Given the description of an element on the screen output the (x, y) to click on. 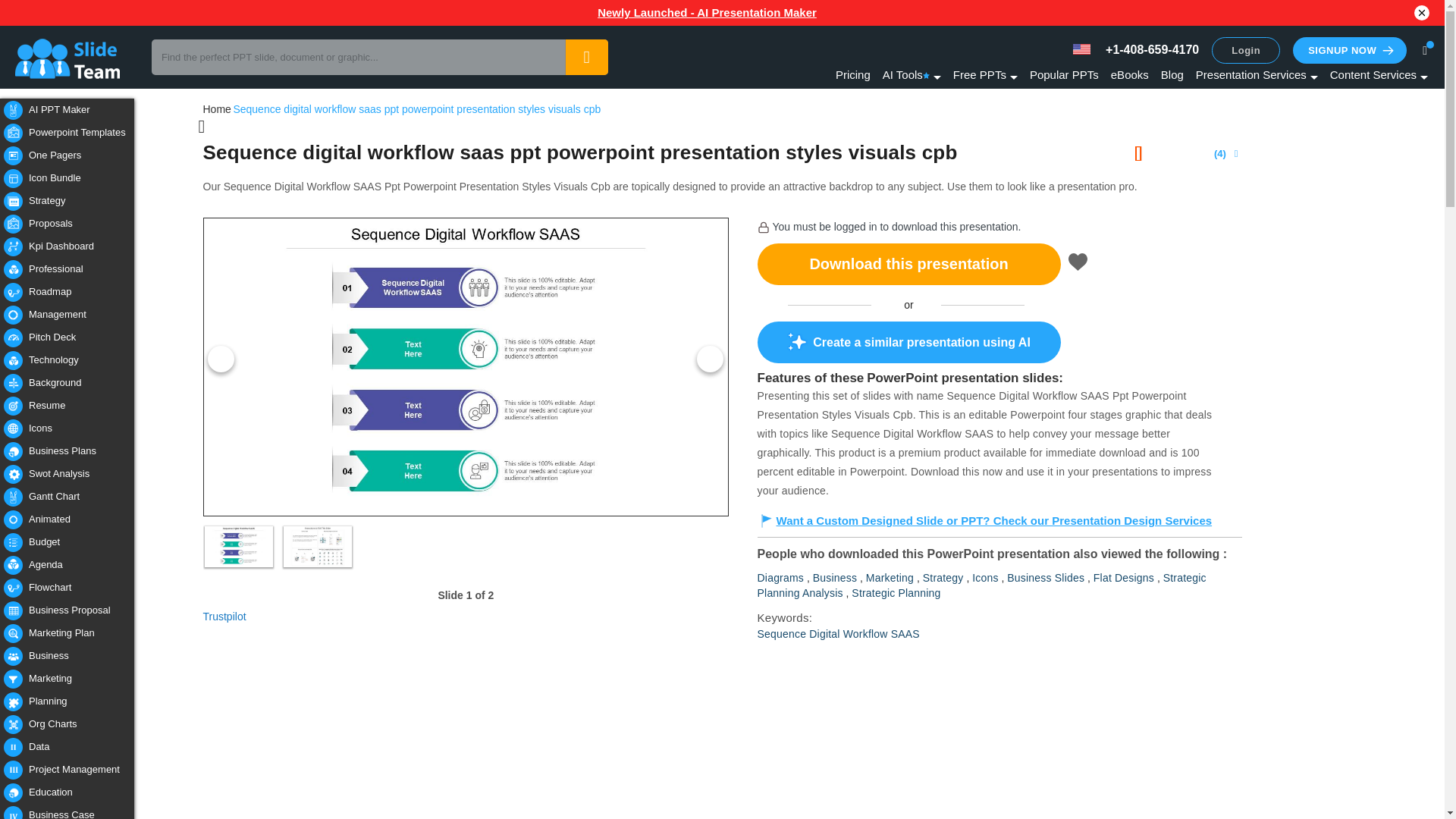
Most Downloaded (1064, 74)
Content Services (1379, 74)
Blog (1171, 74)
SlideTeam (80, 58)
SIGNUP NOW (1349, 49)
eBooks (1129, 74)
Find the perfect ppt slide, document or graphic... (379, 57)
eBooks (1129, 74)
Pricing (852, 74)
Content Services (1379, 74)
Search (586, 57)
Pricing (852, 74)
Presentation Services (1256, 74)
AI Tools (911, 74)
Presentation Services (1256, 74)
